Given the description of an element on the screen output the (x, y) to click on. 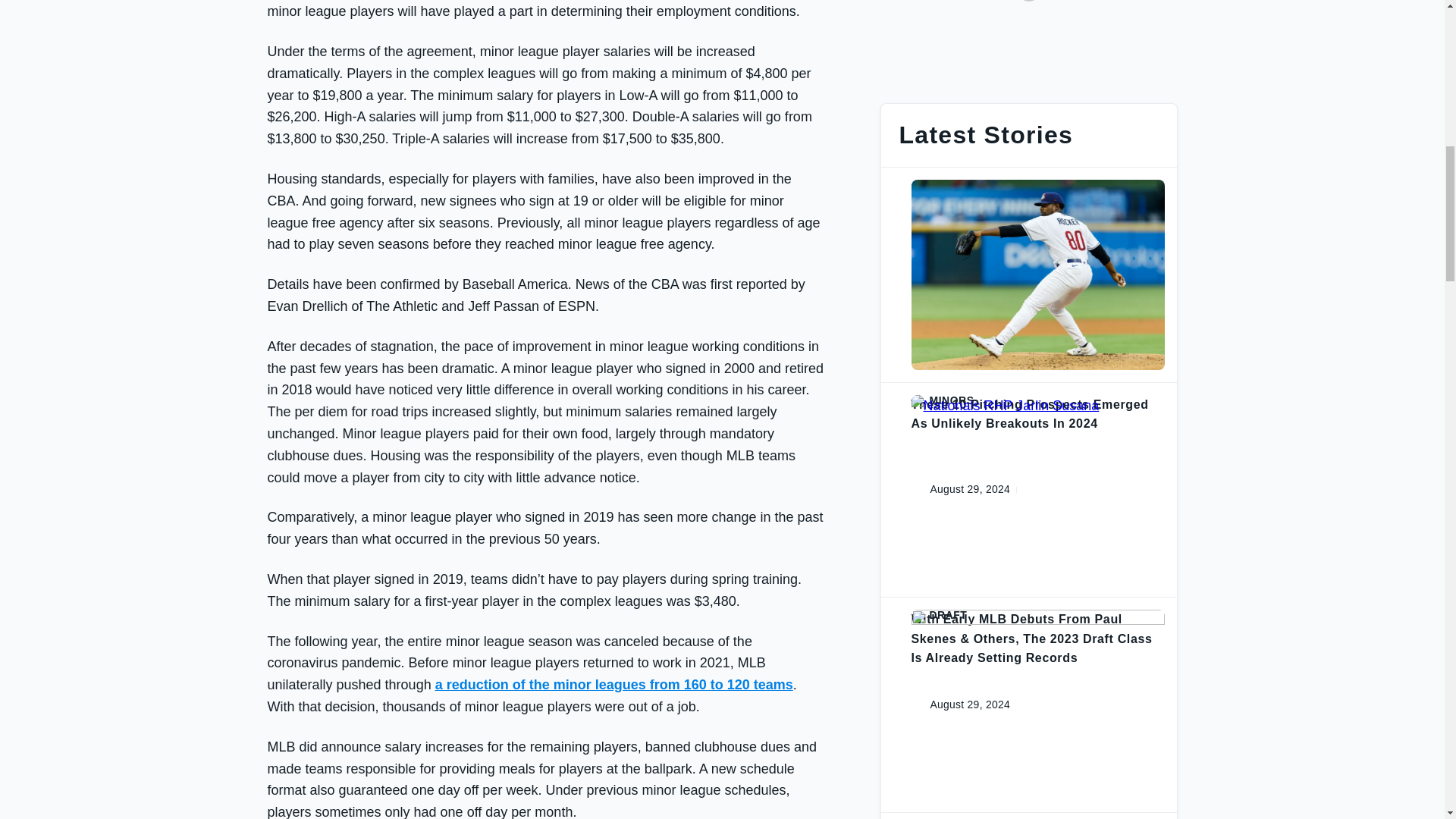
Post category (1037, 400)
Post date (957, 704)
Post date (957, 489)
Post category (1037, 614)
Post date (957, 274)
a reduction of the minor leagues from 160 to 120 teams (614, 684)
Post category (1037, 184)
